Given the description of an element on the screen output the (x, y) to click on. 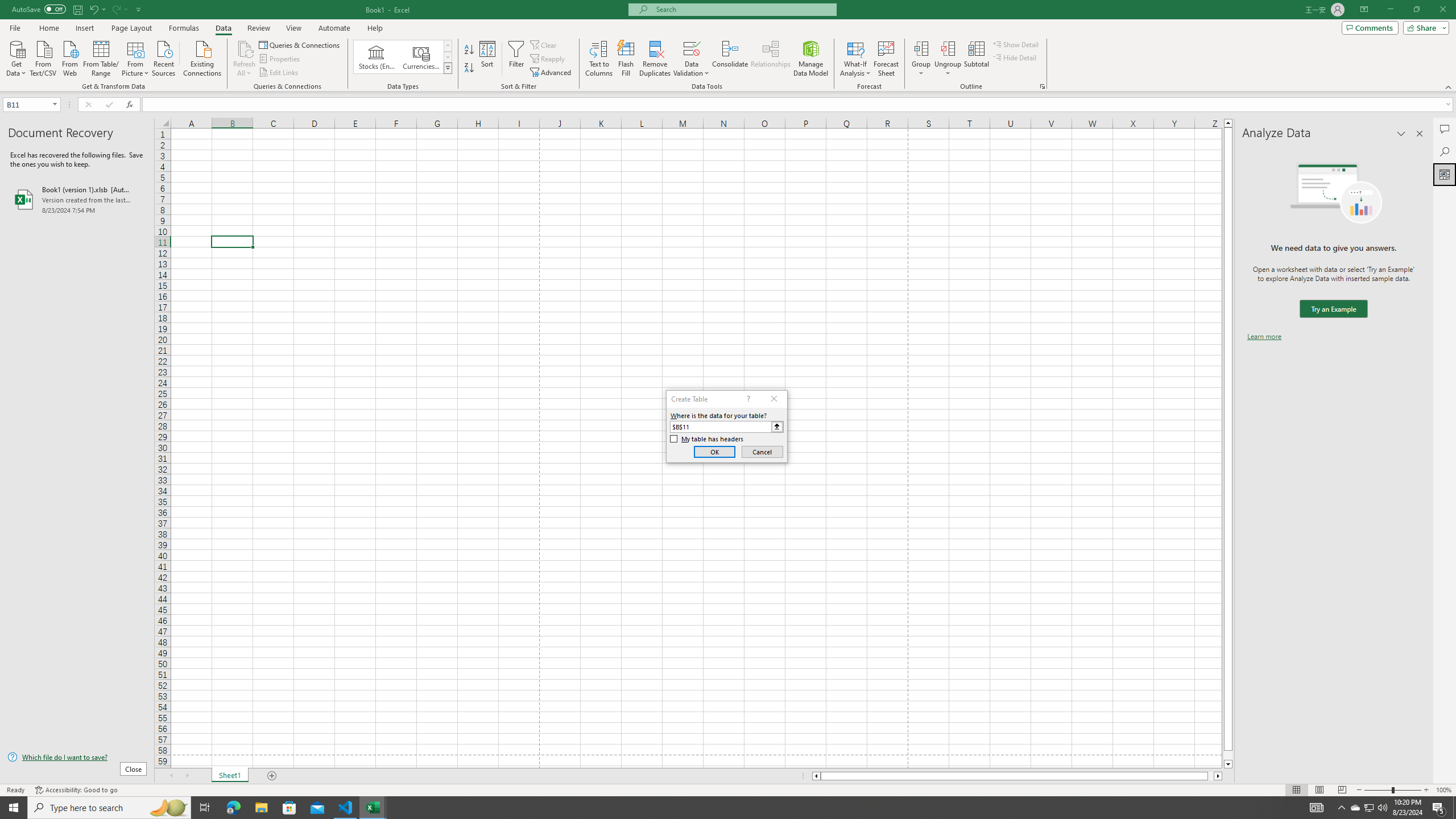
Insert (83, 28)
Ribbon Display Options (1364, 9)
Formula Bar (799, 104)
Row Down (448, 56)
Customize Quick Access Toolbar (139, 9)
Save (77, 9)
Reapply (548, 58)
Class: MsoCommandBar (728, 45)
Ungroup... (947, 48)
Zoom In (1426, 790)
From Web (69, 57)
Quick Access Toolbar (77, 9)
Ungroup... (947, 58)
Page Layout (1318, 790)
Page Layout (131, 28)
